Given the description of an element on the screen output the (x, y) to click on. 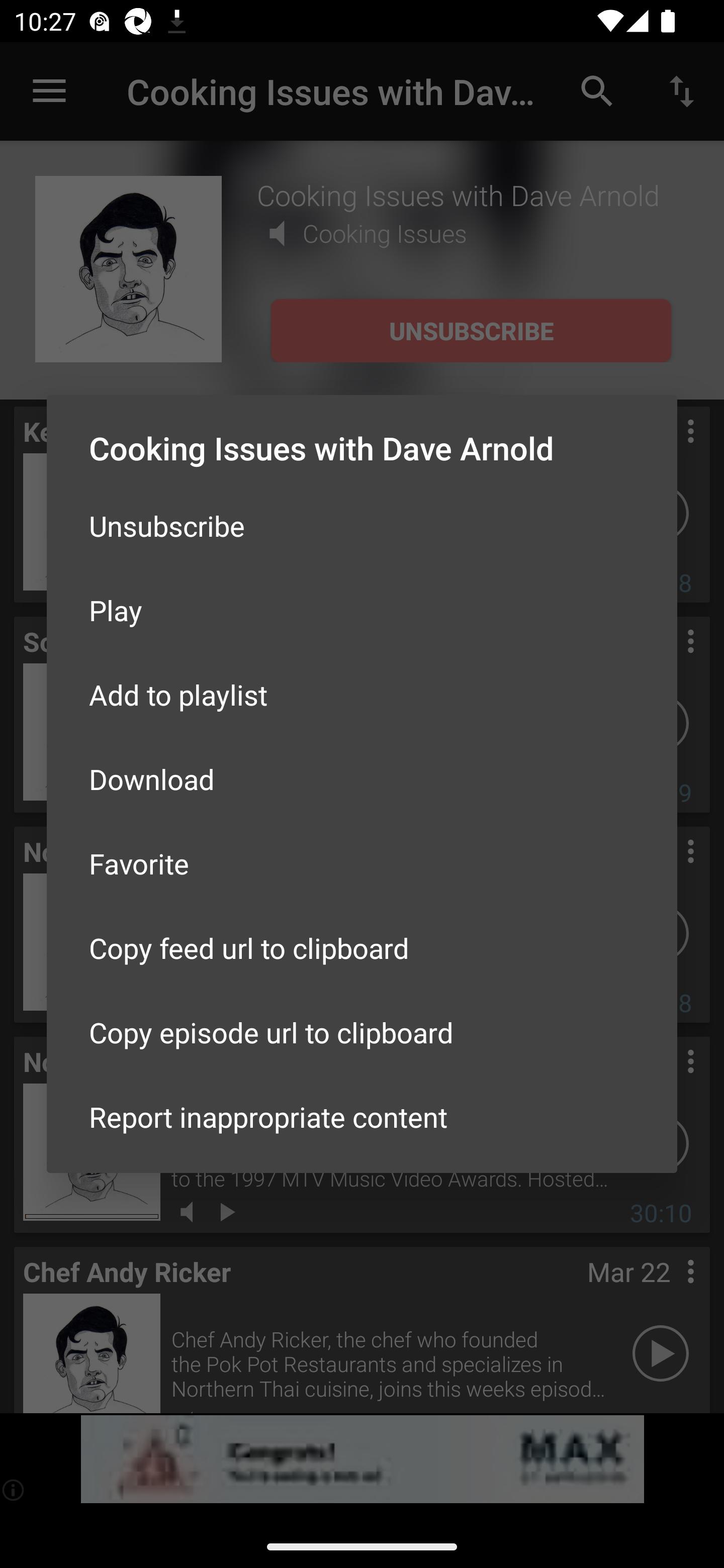
Unsubscribe (361, 524)
Play (361, 609)
Add to playlist (361, 694)
Download (361, 778)
Favorite (361, 863)
Copy feed url to clipboard (361, 947)
Copy episode url to clipboard (361, 1031)
Report inappropriate content (361, 1116)
